Given the description of an element on the screen output the (x, y) to click on. 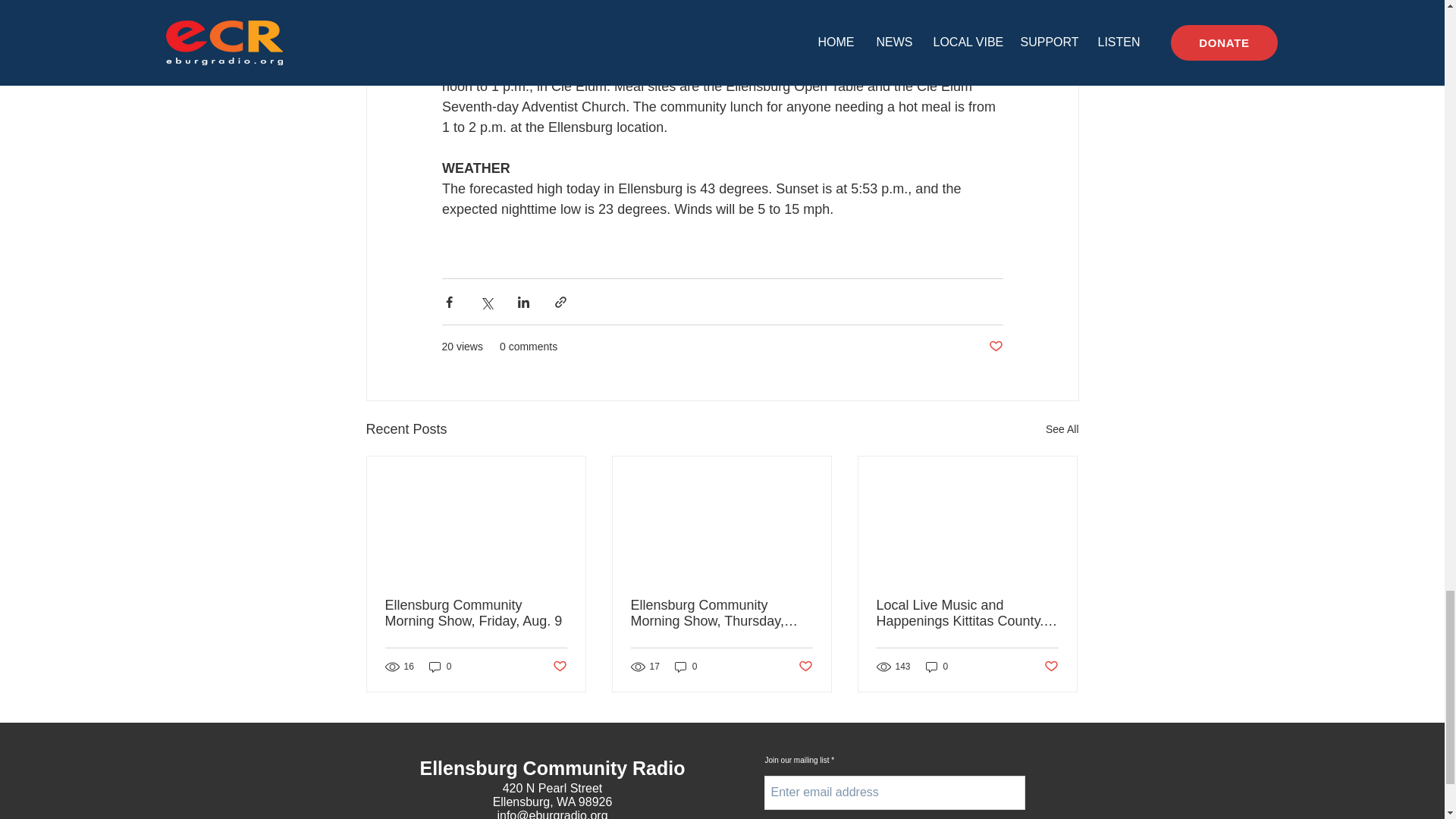
0 (937, 667)
See All (1061, 429)
Ellensburg Community Morning Show, Friday, Aug. 9 (476, 613)
Post not marked as liked (804, 666)
Post not marked as liked (995, 346)
Post not marked as liked (1050, 666)
0 (685, 667)
0 (440, 667)
Ellensburg Community Morning Show, Thursday, Aug. 8 (721, 613)
